Given the description of an element on the screen output the (x, y) to click on. 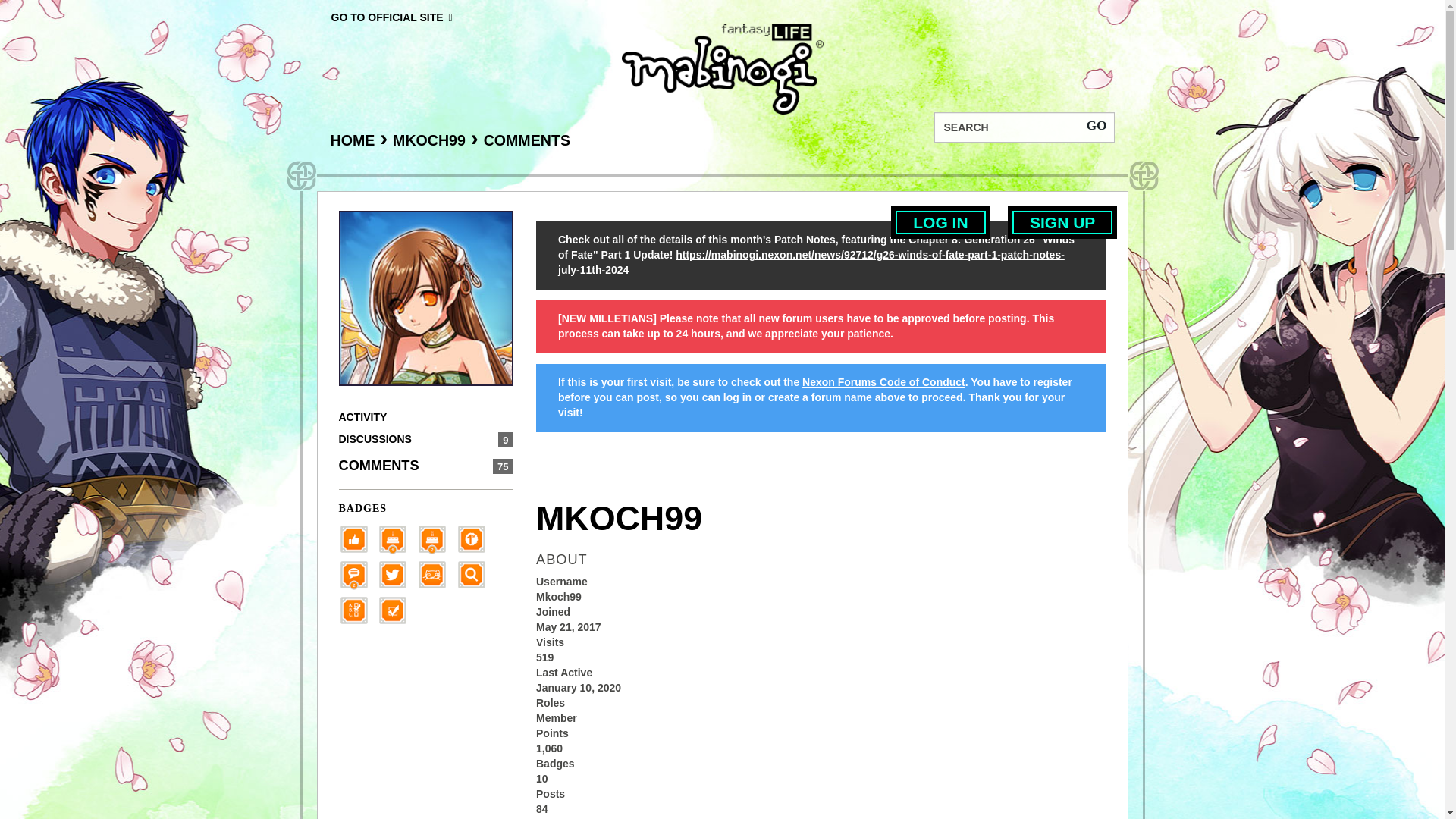
Paladin (436, 538)
Seal Breaker (476, 538)
I Voted! (396, 609)
January 10, 2020  1:26AM (578, 687)
Go (1095, 125)
Personality (436, 573)
Advent of Goddess (396, 538)
I wonder... (476, 573)
Pollster (357, 609)
Tiny Wanderer (357, 573)
Beginner (357, 538)
May 21, 2017  4:15PM (568, 626)
